Given the description of an element on the screen output the (x, y) to click on. 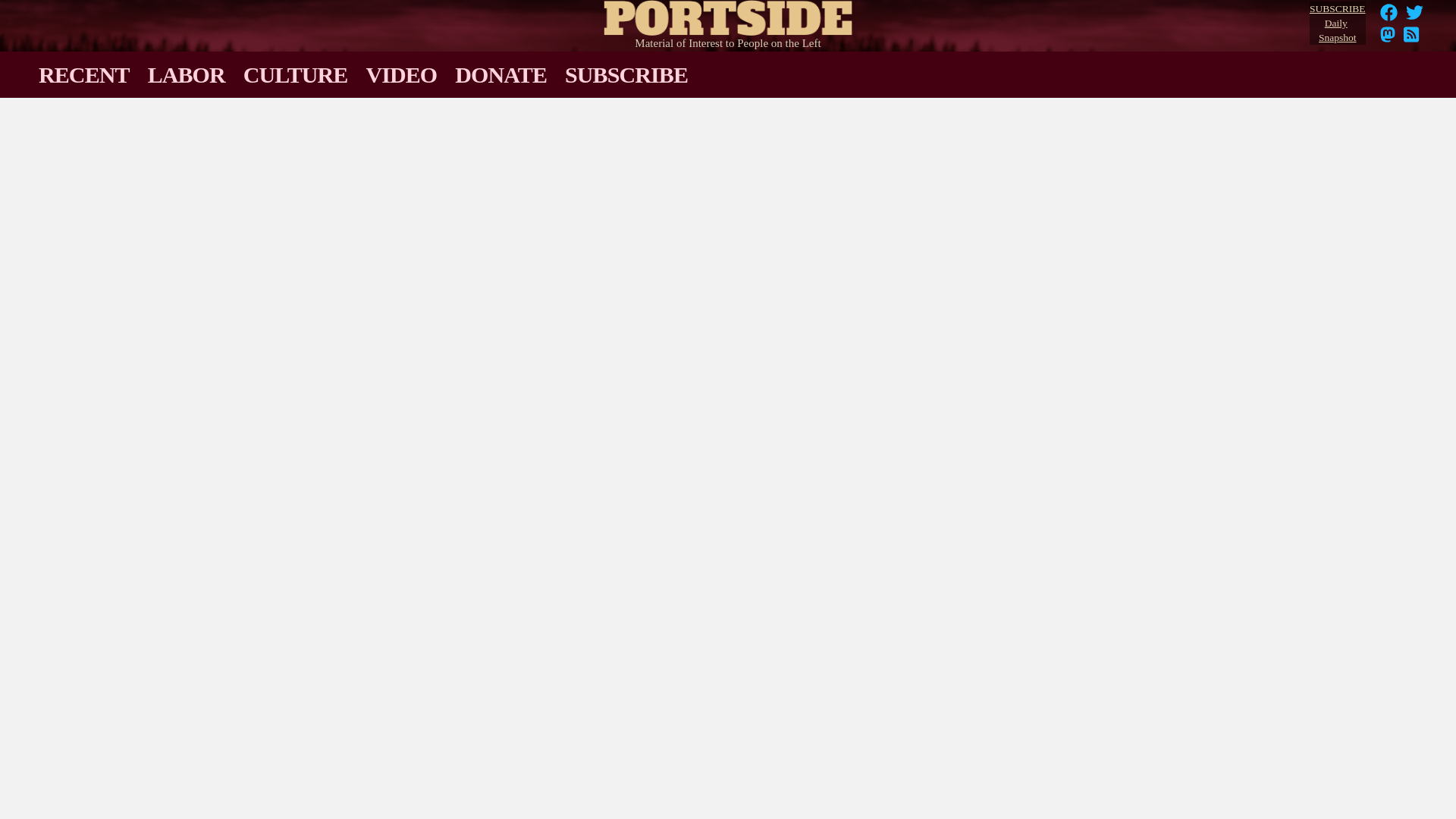
Twitter (1414, 11)
Facebook (1388, 11)
Follow Portside on Twitter (1414, 16)
RSS (1411, 39)
Follow Portside's RSS feed (1411, 39)
Facebook (1388, 16)
Mastodon (1387, 39)
Twitter (1336, 23)
